Given the description of an element on the screen output the (x, y) to click on. 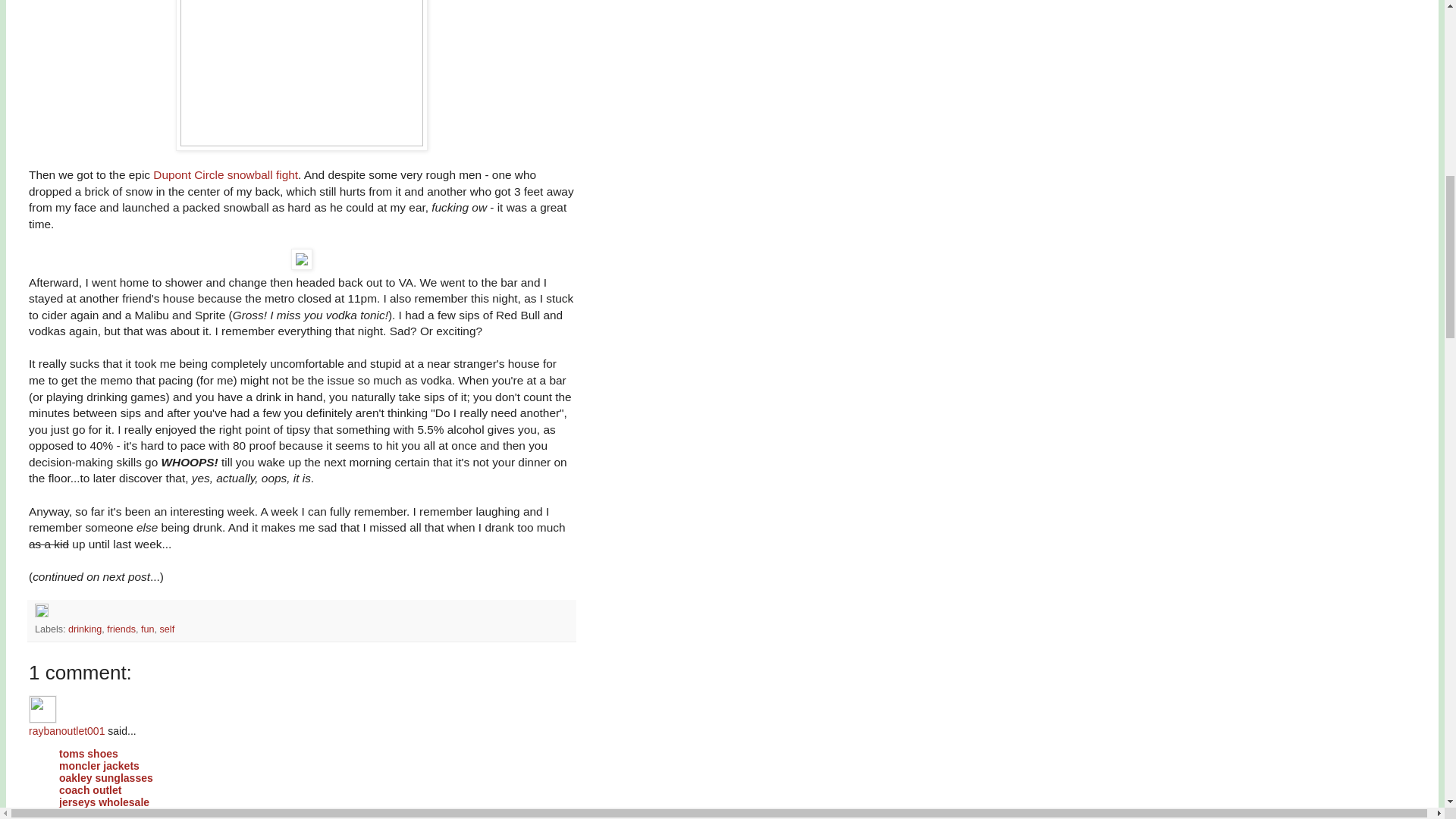
fun (147, 629)
raybanoutlet001 (66, 730)
Edit Post (41, 614)
ugg outlet (84, 813)
Dupont Circle snowball fight (225, 174)
coach outlet (89, 789)
raybanoutlet001 (42, 709)
friends (120, 629)
drinking (84, 629)
jerseys wholesale (104, 802)
oakley sunglasses (105, 777)
toms shoes (88, 753)
moncler jackets (99, 766)
self (167, 629)
